Given the description of an element on the screen output the (x, y) to click on. 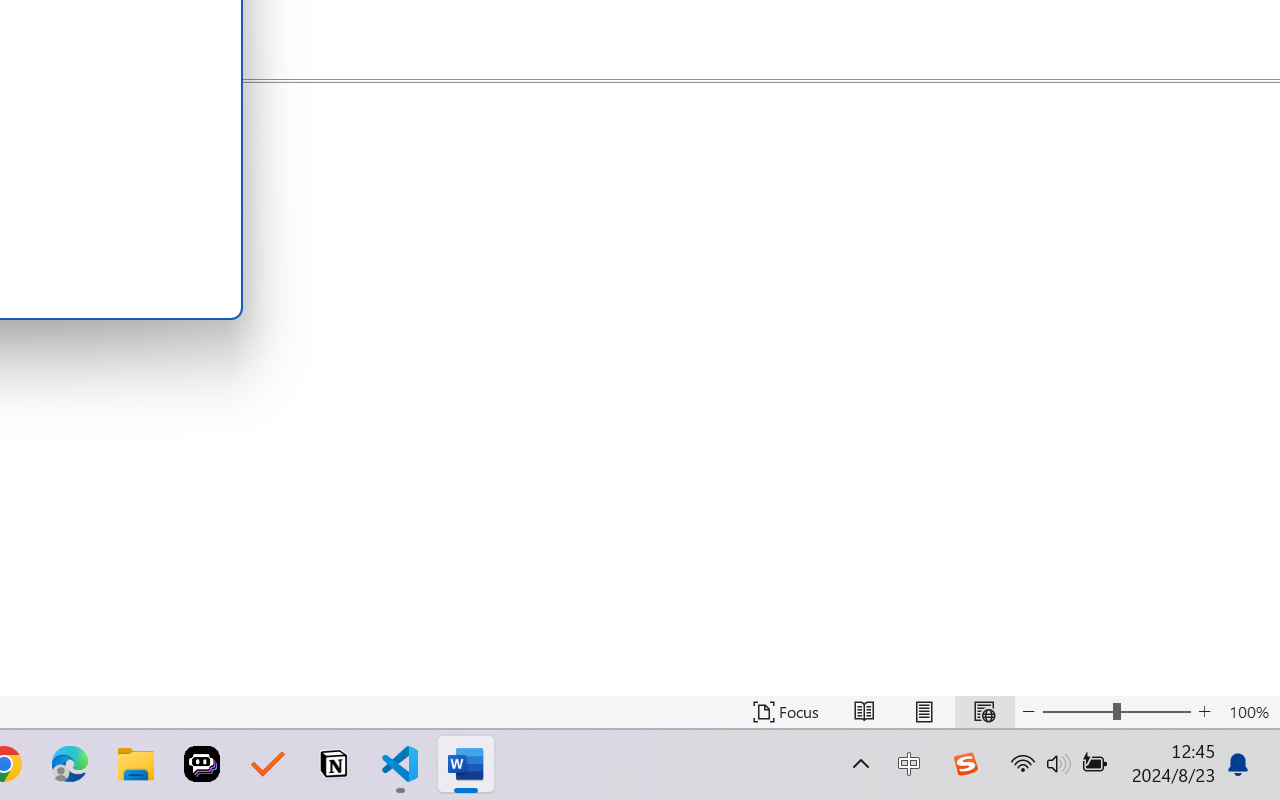
Zoom 100% (1249, 712)
